Given the description of an element on the screen output the (x, y) to click on. 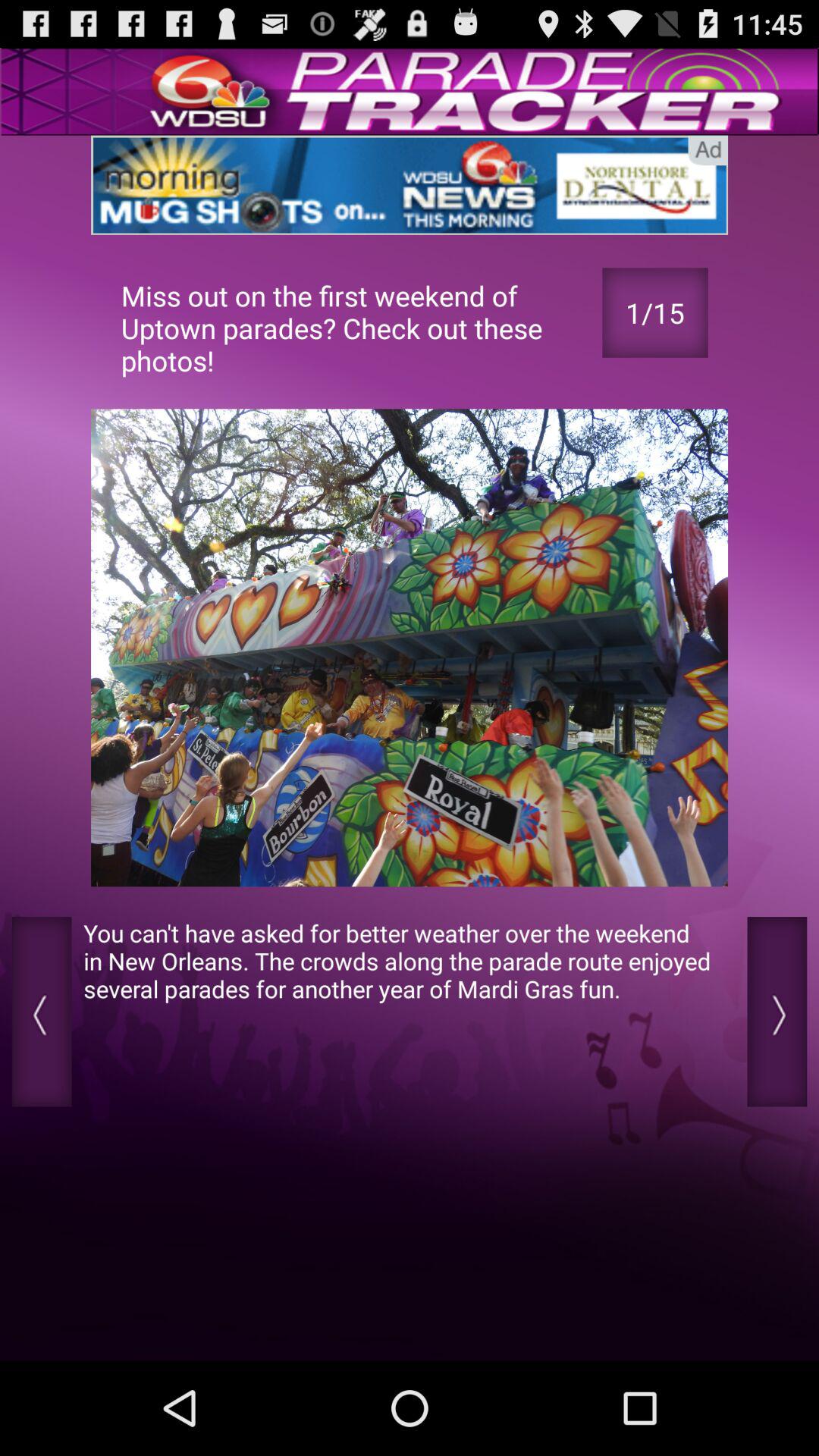
go back (777, 1011)
